Given the description of an element on the screen output the (x, y) to click on. 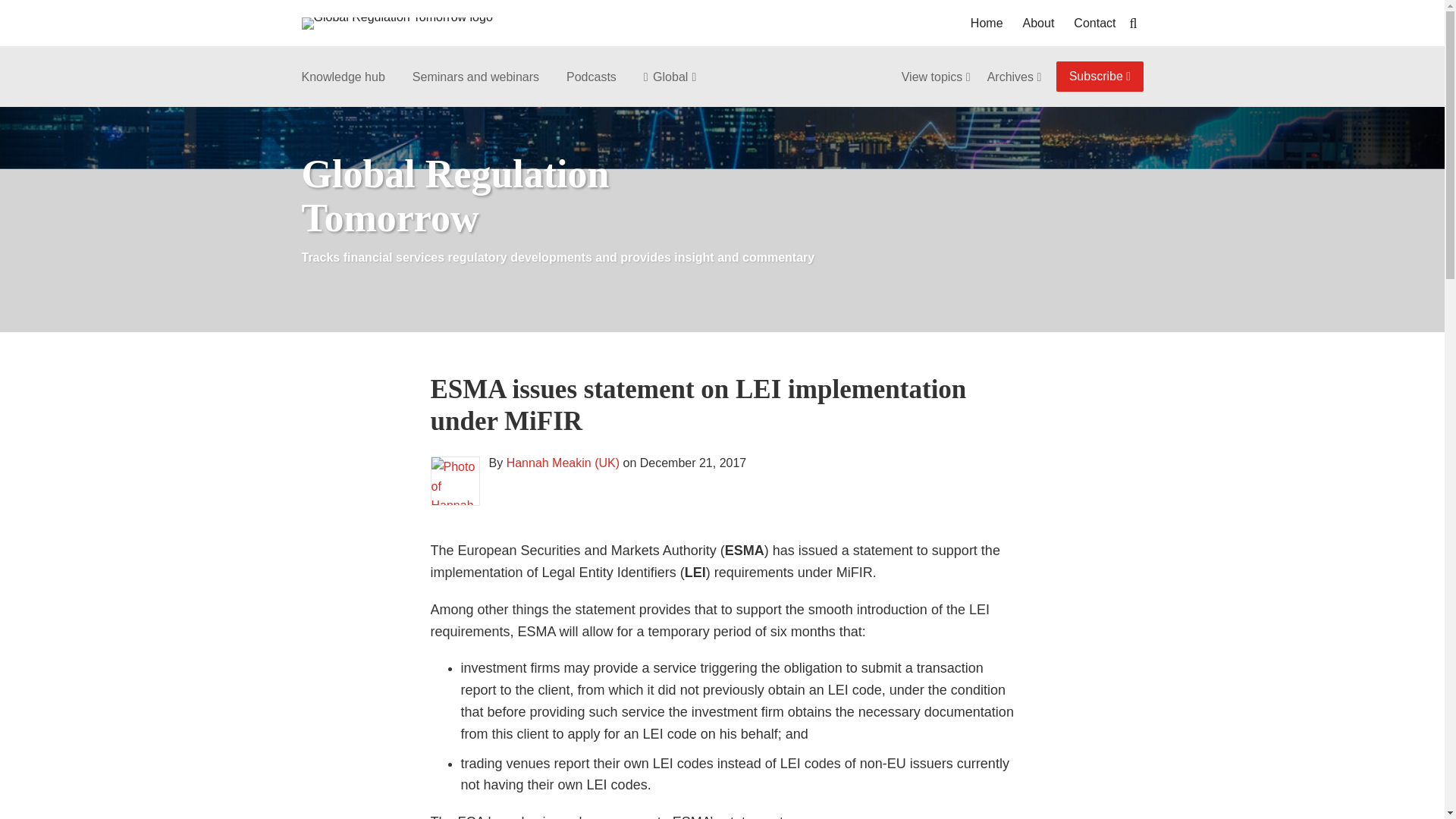
Knowledge hub (343, 76)
Subscribe (1099, 76)
Global (665, 76)
Archives (1015, 76)
Contact (1094, 23)
View topics (936, 76)
Global Regulation Tomorrow (455, 195)
Home (987, 23)
Seminars and webinars (475, 76)
Podcasts (590, 76)
